Given the description of an element on the screen output the (x, y) to click on. 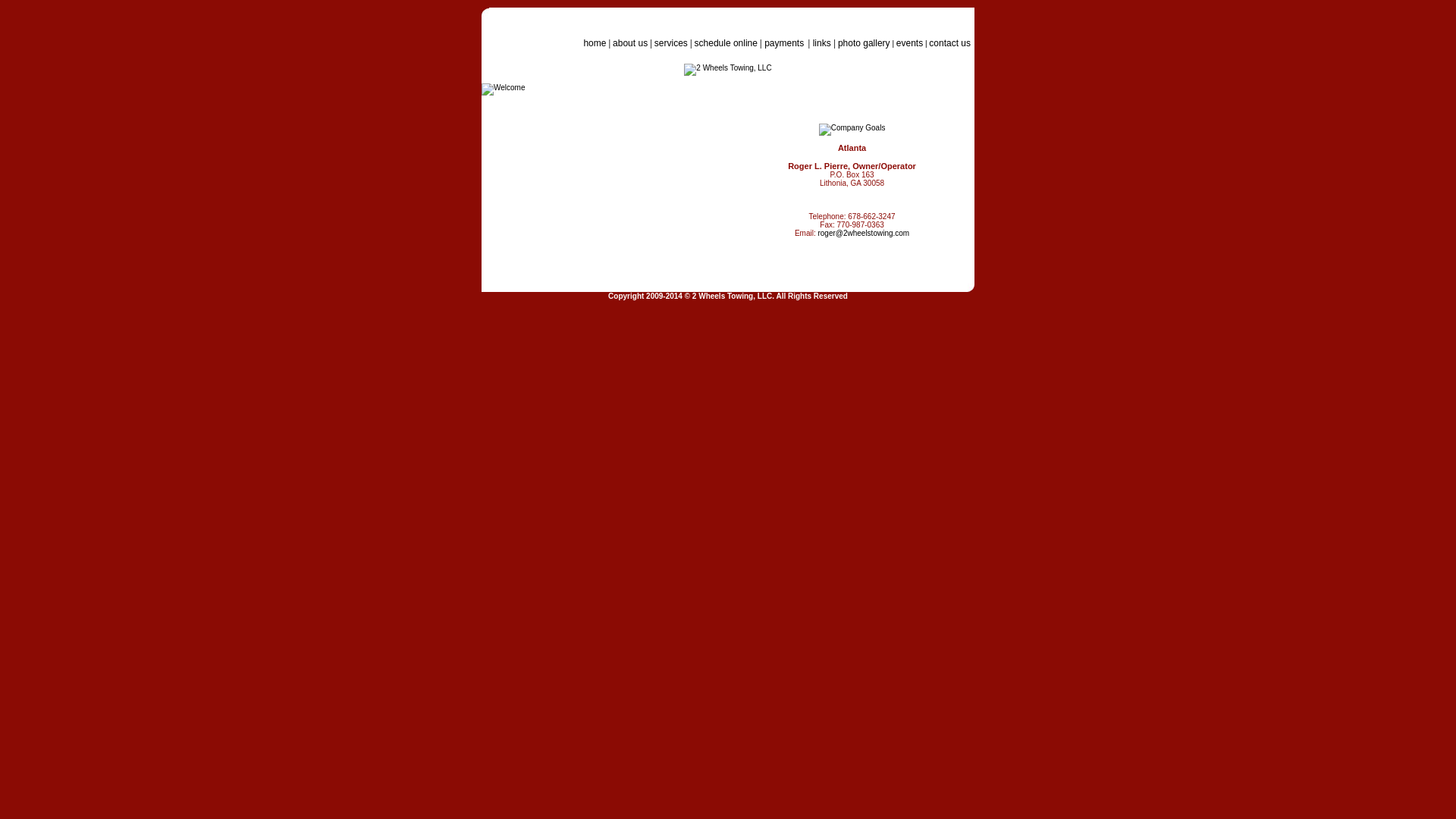
schedule online Element type: text (725, 42)
payments Element type: text (785, 42)
events Element type: text (909, 42)
photo gallery Element type: text (863, 42)
roger@2wheelstowing.com Element type: text (863, 233)
home Element type: text (776, 48)
services Element type: text (670, 42)
about us Element type: text (629, 42)
contact us Element type: text (949, 42)
links Element type: text (821, 42)
